Given the description of an element on the screen output the (x, y) to click on. 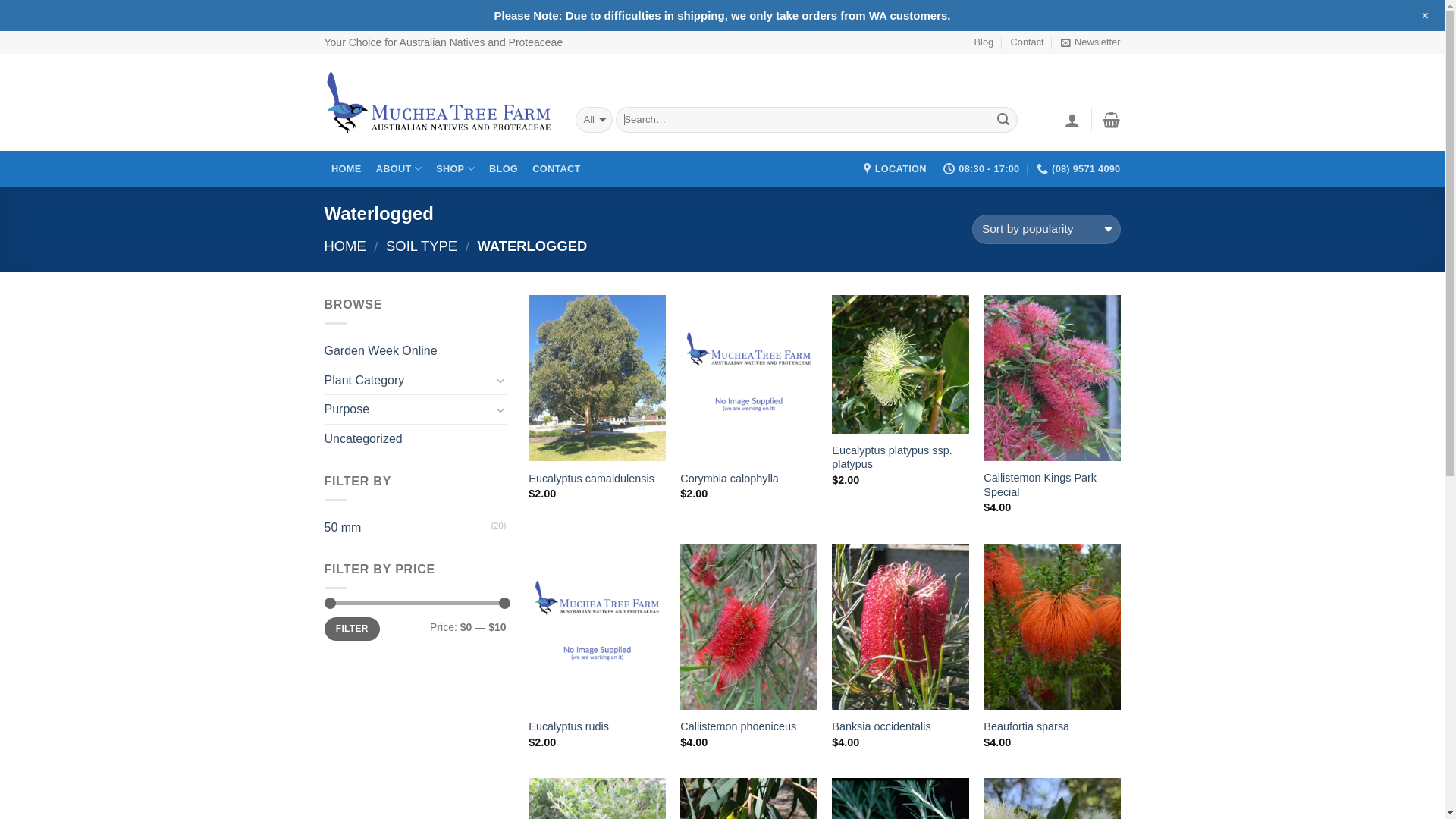
Garden Week Online Element type: text (415, 350)
Newsletter Element type: text (1090, 42)
Contact Element type: text (1027, 42)
Purpose Element type: text (407, 409)
LOCATION Element type: text (894, 168)
Banksia occidentalis Element type: text (880, 726)
08:30 - 17:00 Element type: text (981, 168)
Eucalyptus camaldulensis Element type: text (591, 478)
FILTER Element type: text (351, 628)
BLOG Element type: text (502, 168)
CONTACT Element type: text (556, 168)
+ Element type: text (1425, 15)
(08) 9571 4090 Element type: text (1078, 168)
HOME Element type: text (345, 246)
Beaufortia sparsa Element type: text (1026, 726)
HOME Element type: text (346, 168)
SOIL TYPE Element type: text (421, 246)
Plant Category Element type: text (407, 380)
Cart Element type: hover (1111, 119)
Muchea Tree Farm - Australian Natives and Proteaceae Element type: hover (438, 102)
Uncategorized Element type: text (415, 438)
Blog Element type: text (984, 42)
Callistemon Kings Park Special Element type: text (1051, 484)
ABOUT Element type: text (398, 168)
SHOP Element type: text (455, 168)
Callistemon phoeniceus Element type: text (738, 726)
Eucalyptus rudis Element type: text (568, 726)
50 mm Element type: text (407, 527)
Corymbia calophylla Element type: text (729, 478)
Eucalyptus platypus ssp. platypus Element type: text (899, 457)
